Given the description of an element on the screen output the (x, y) to click on. 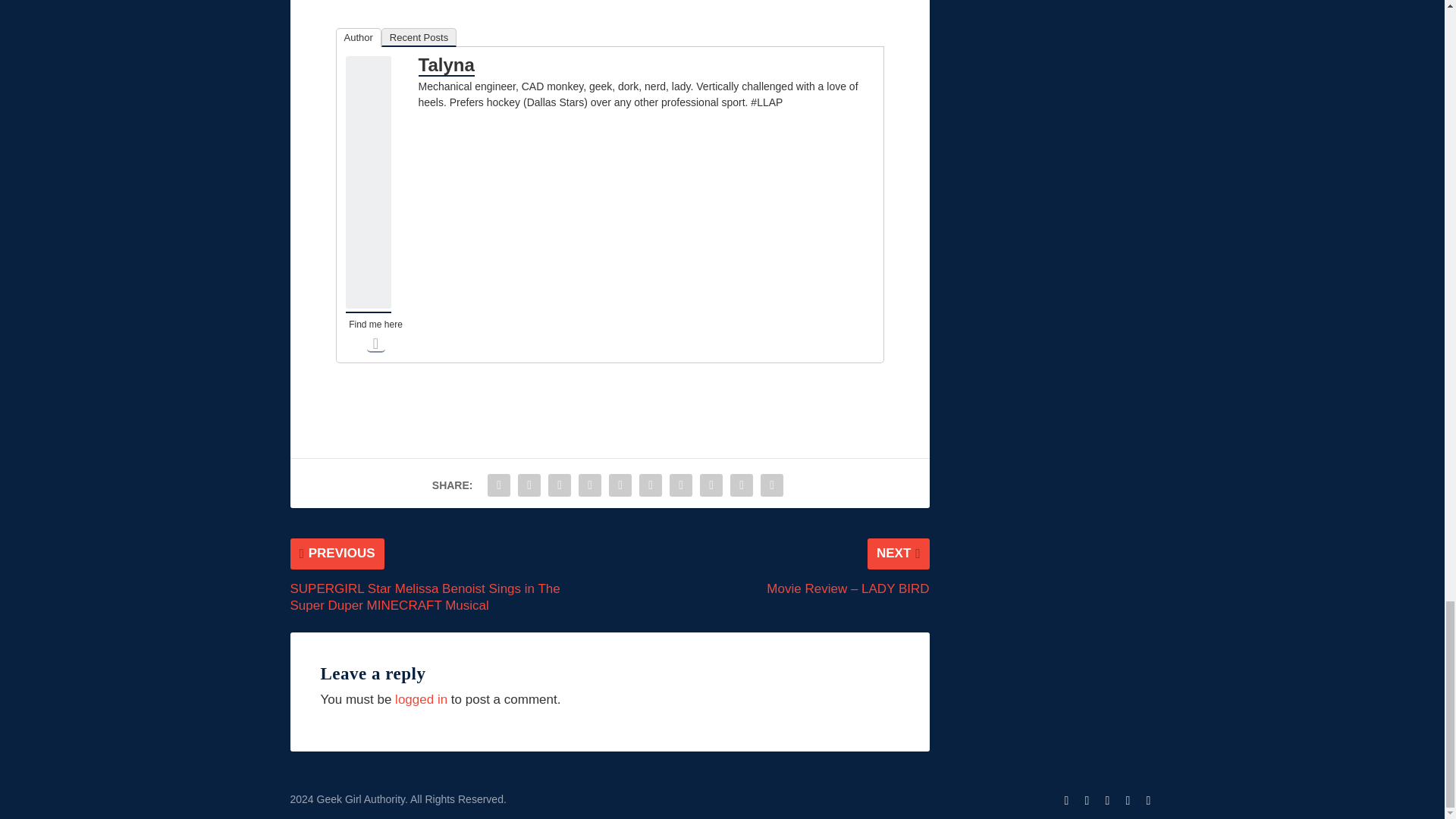
Talyna (368, 304)
Twitter (375, 343)
